Given the description of an element on the screen output the (x, y) to click on. 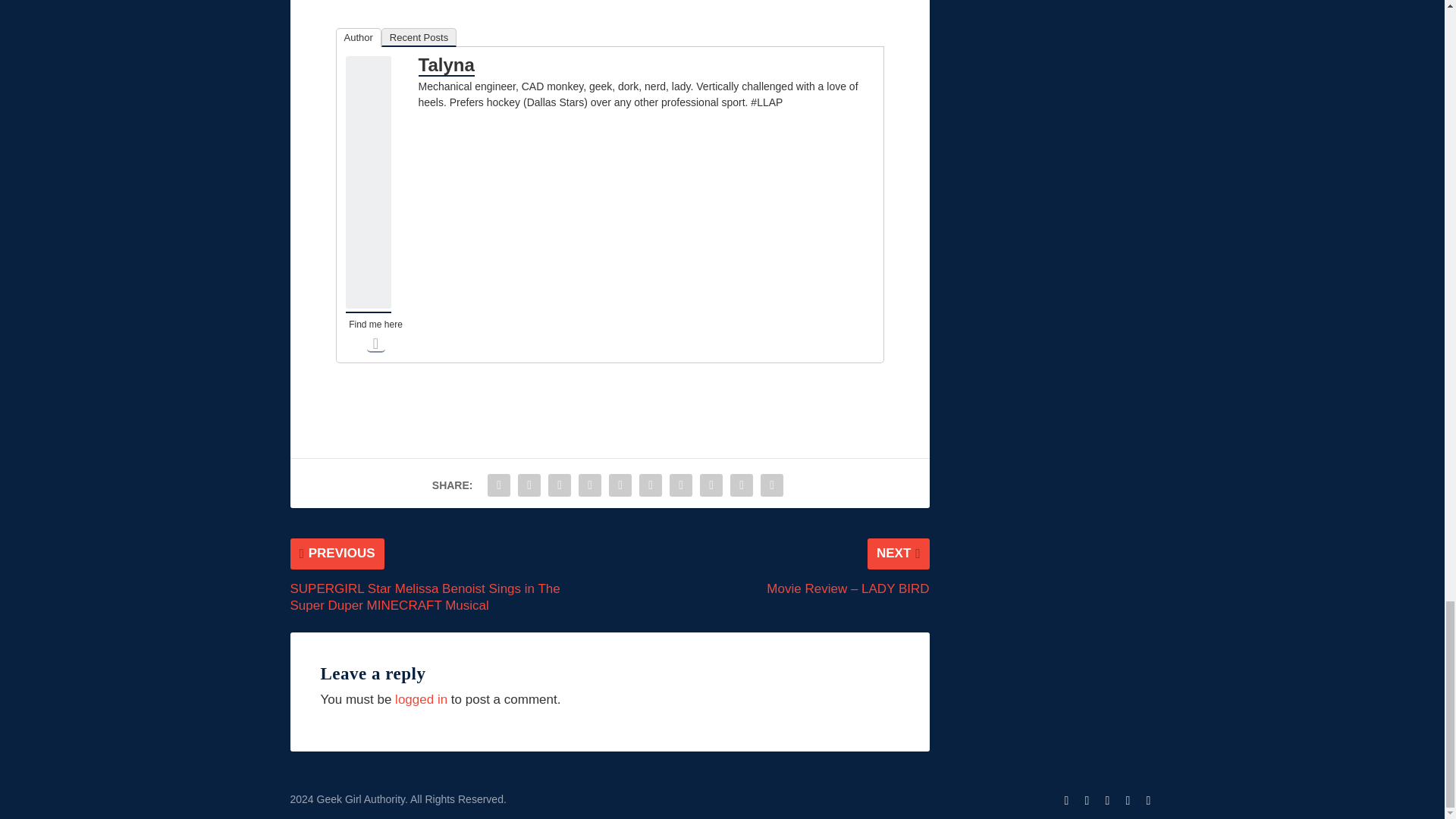
Talyna (368, 304)
Twitter (375, 343)
